Given the description of an element on the screen output the (x, y) to click on. 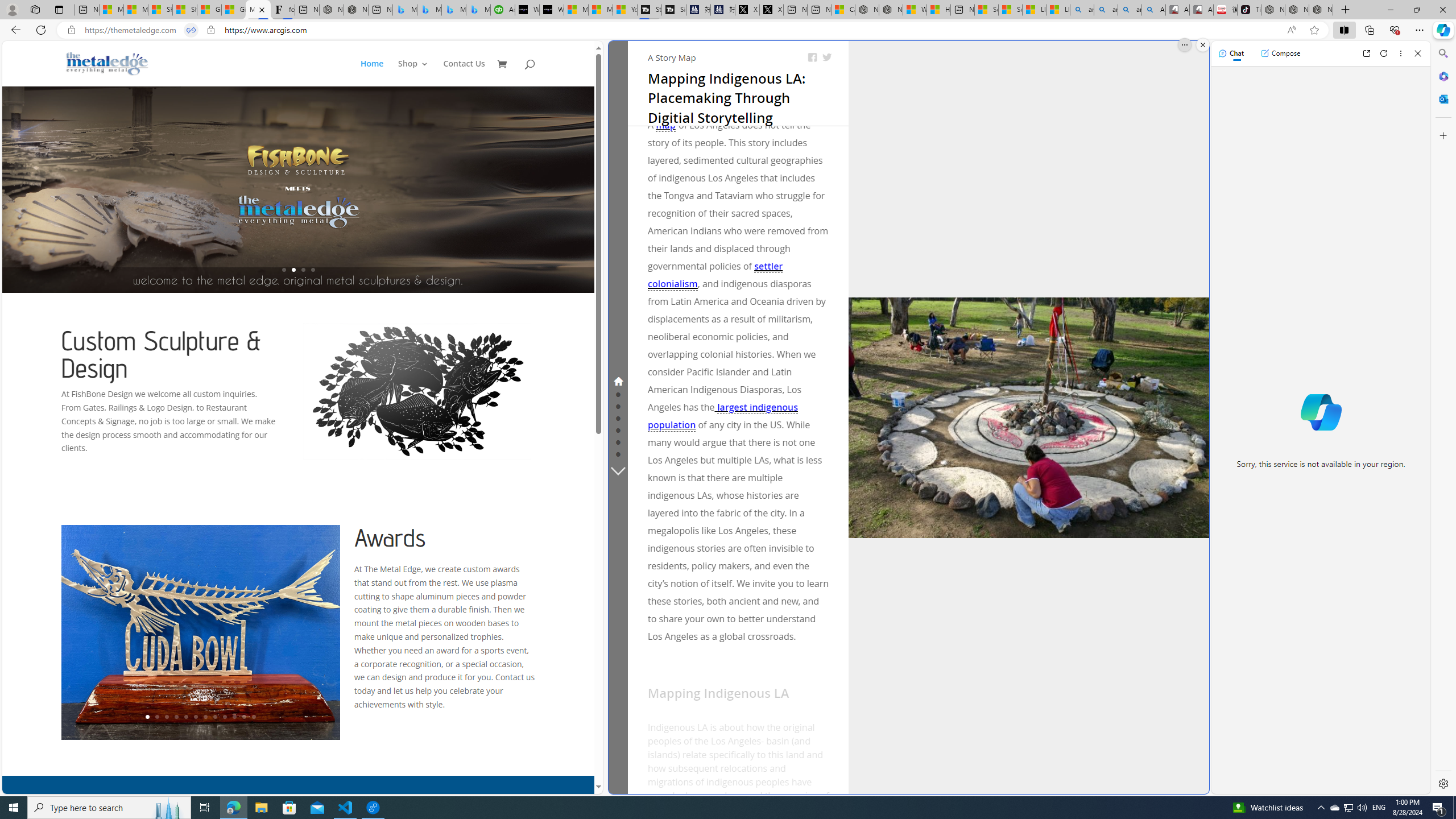
11 (243, 716)
Go to beginning of narrative (744, 776)
Close split screen. (1202, 45)
Metal Fish Sculptures & Metal Designs (106, 63)
Chat (1231, 52)
Go to section 5: American Indians in Los Angeles  (617, 429)
6 (195, 716)
